Given the description of an element on the screen output the (x, y) to click on. 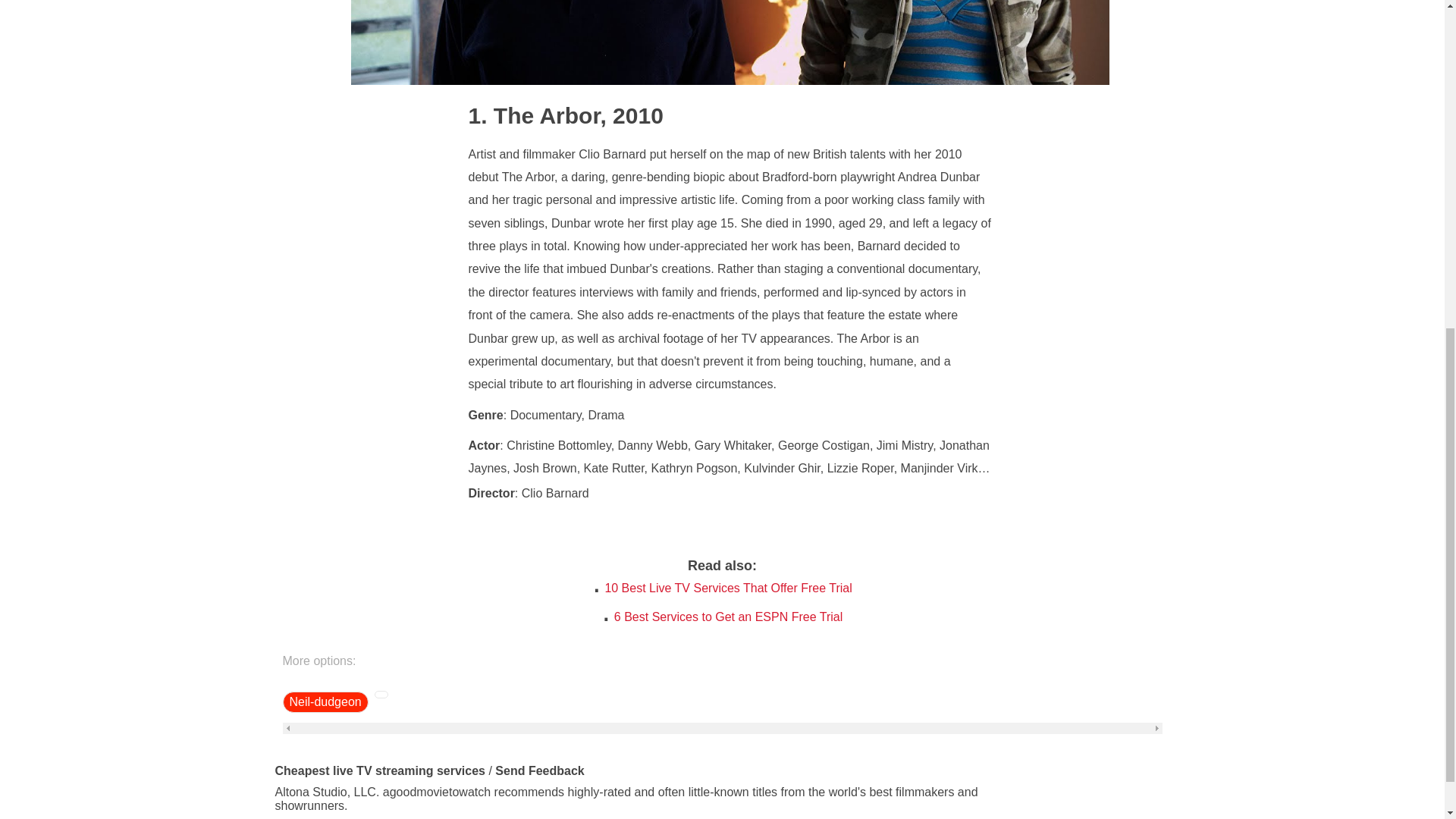
The Arbor (533, 114)
